Given the description of an element on the screen output the (x, y) to click on. 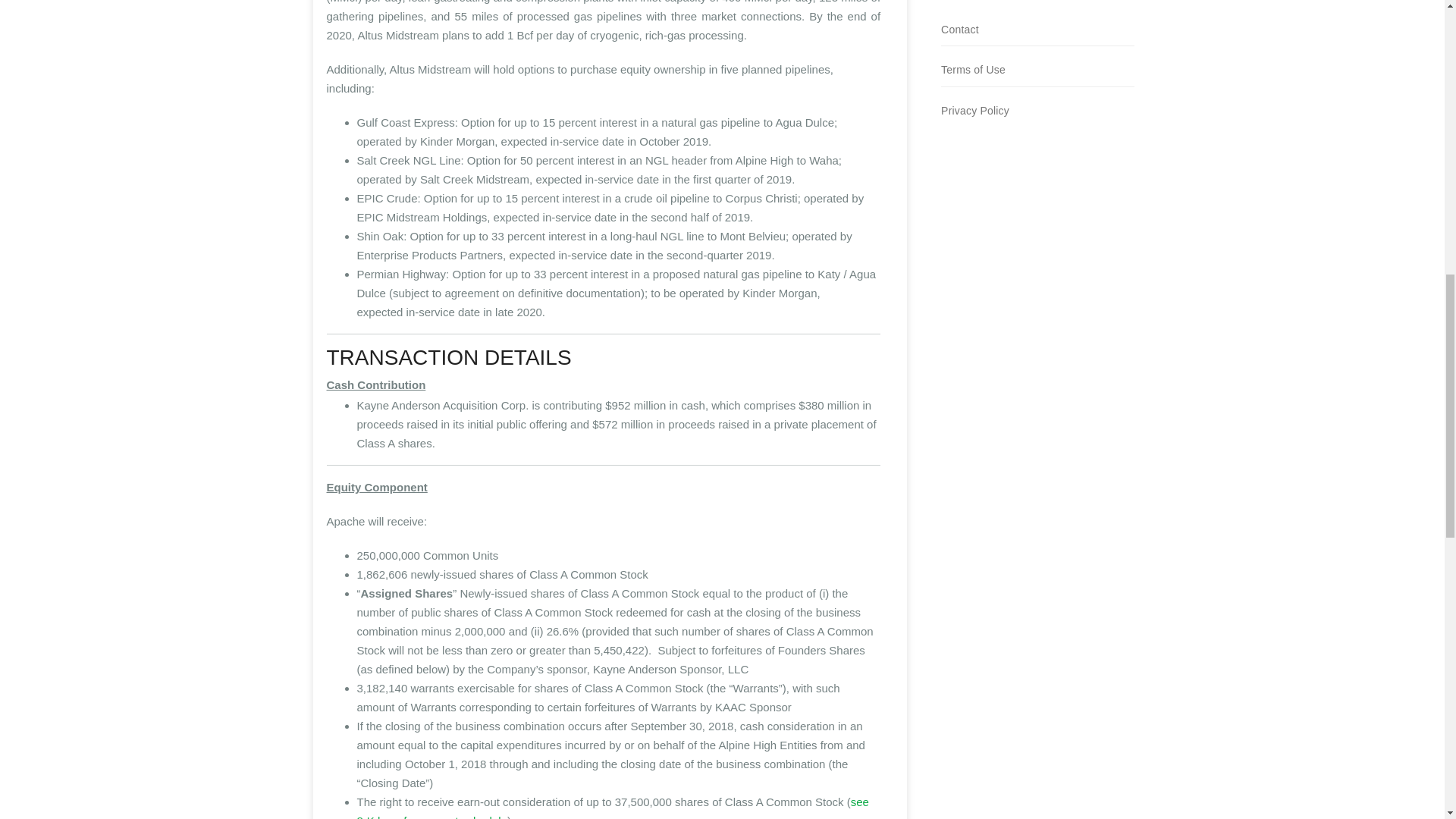
Terms of Use (973, 69)
Privacy Policy (974, 110)
Contact (959, 29)
see 8-K here for earnout schedule (611, 807)
